Given the description of an element on the screen output the (x, y) to click on. 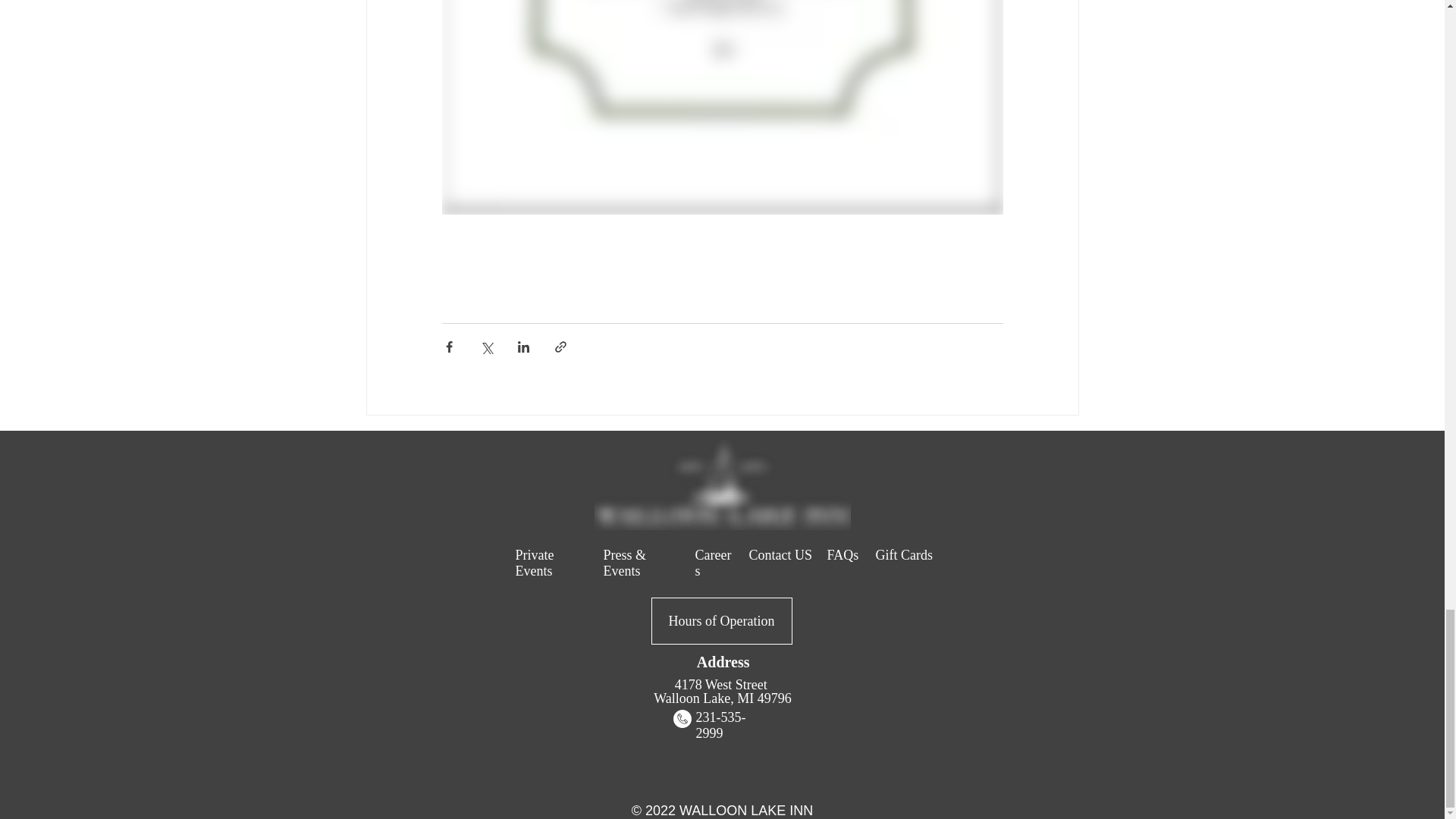
Contact US (780, 554)
Walloon Lake,  (694, 698)
4178 West Street  (723, 684)
Careers (712, 562)
MI 49796 (764, 698)
Hours of Operation (721, 620)
Gift Cards (904, 554)
231-535-2999 (720, 725)
Private Events (534, 562)
